Given the description of an element on the screen output the (x, y) to click on. 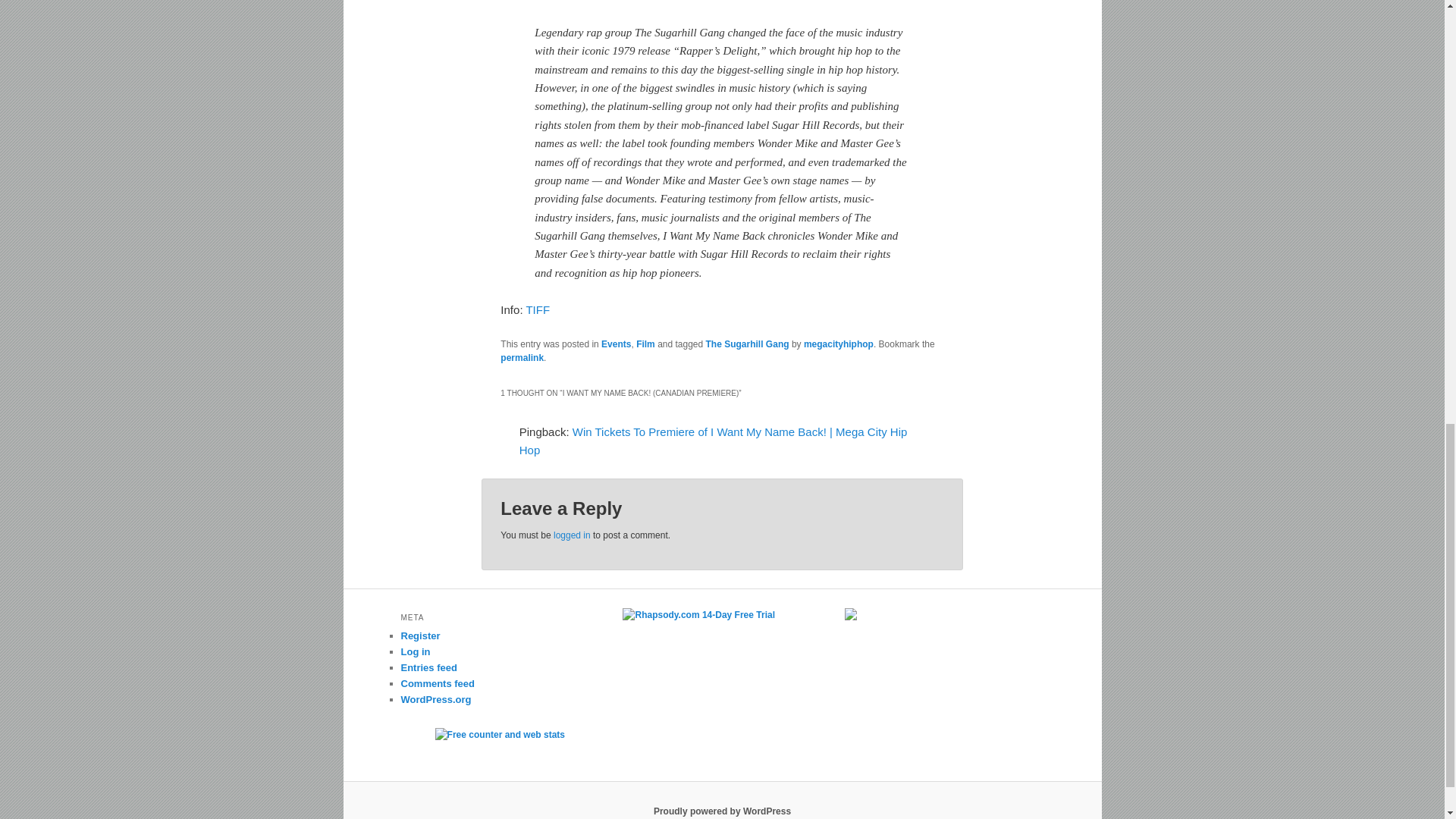
Film (645, 344)
permalink (521, 357)
WordPress.org (435, 699)
The Sugarhill Gang (747, 344)
Entries feed (428, 667)
TIFF (537, 309)
Proudly powered by WordPress (721, 810)
Register (419, 635)
Semantic Personal Publishing Platform (721, 810)
Log in (414, 651)
Events (615, 344)
logged in (572, 534)
megacityhiphop (838, 344)
Comments feed (437, 683)
